Given the description of an element on the screen output the (x, y) to click on. 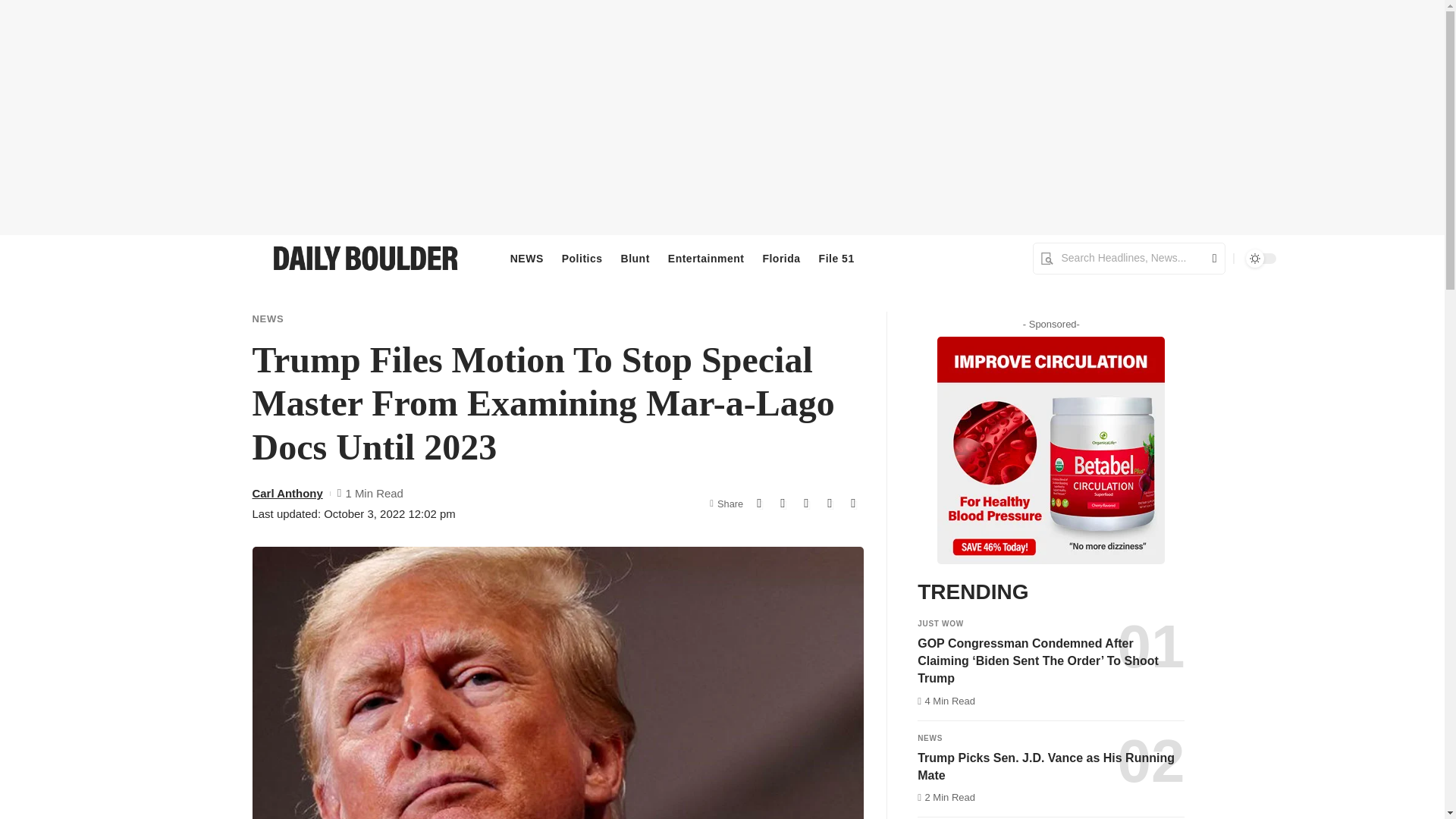
Florida (780, 258)
Entertainment (706, 258)
Blunt (635, 258)
NEWS (526, 258)
Politics (582, 258)
Search (1208, 258)
File 51 (836, 258)
